Given the description of an element on the screen output the (x, y) to click on. 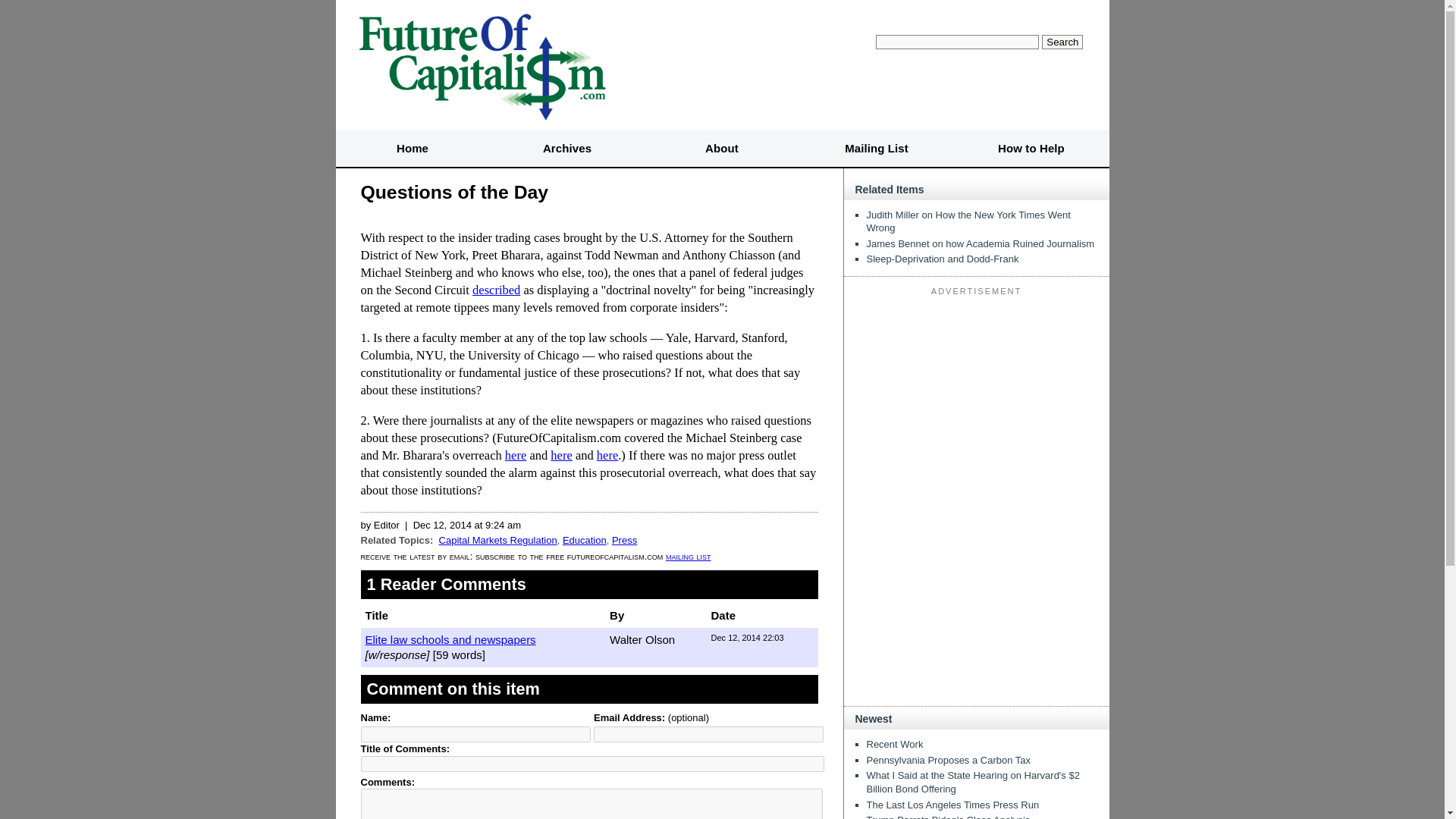
Archives (567, 148)
About (722, 148)
How to Help (1030, 148)
James Bennet on how Academia Ruined Journalism (980, 243)
Sleep-Deprivation and Dodd-Frank (941, 258)
The Future of Capitalism (480, 64)
here (606, 454)
Recent Work (894, 744)
Press (624, 540)
here (561, 454)
Search (1061, 42)
Capital Markets Regulation (498, 540)
Home (411, 148)
The Last Los Angeles Times Press Run (952, 804)
Advertisement (976, 395)
